Given the description of an element on the screen output the (x, y) to click on. 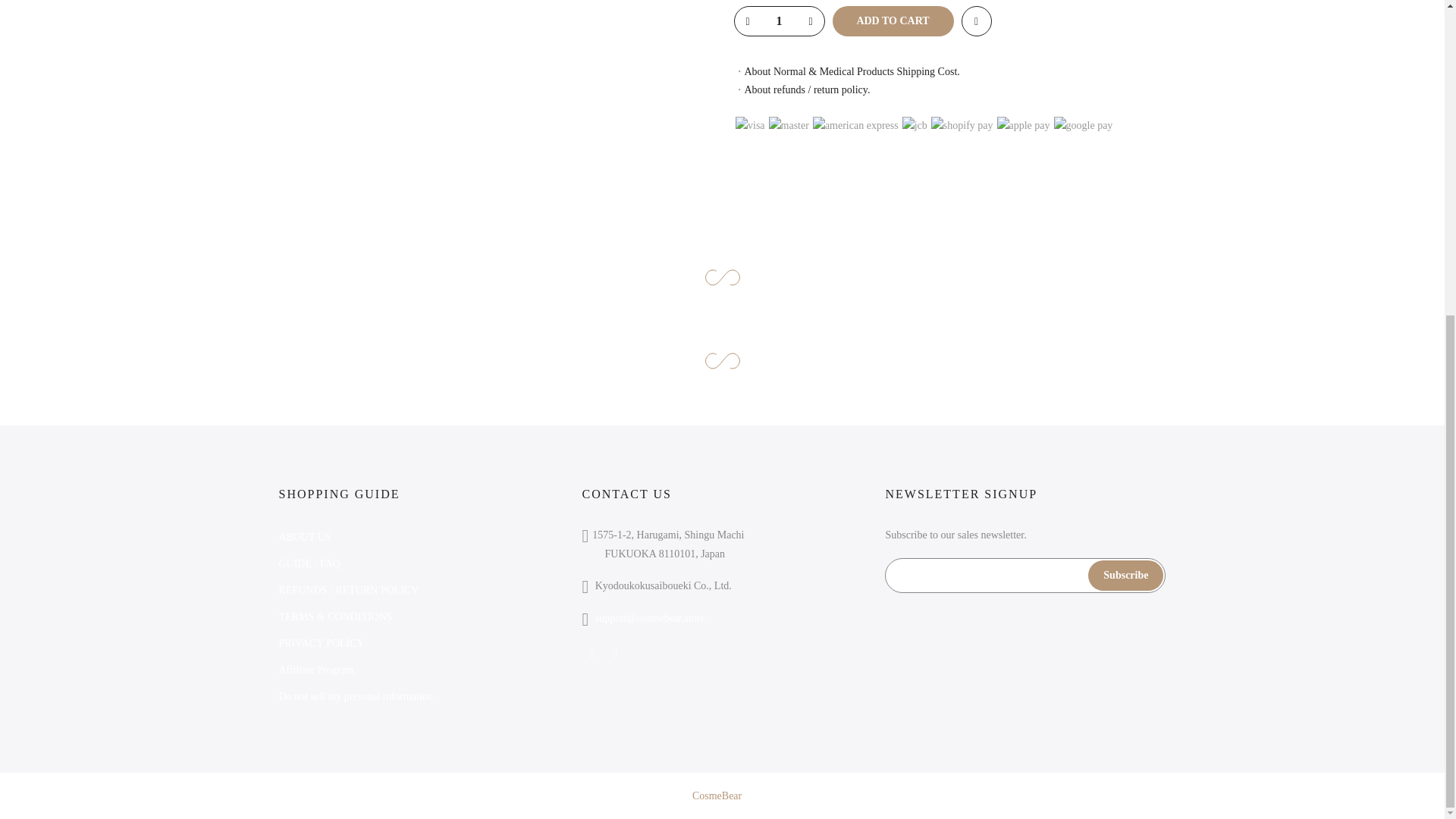
ABOUT US (305, 536)
ADD TO CART (892, 20)
1 (778, 21)
